Given the description of an element on the screen output the (x, y) to click on. 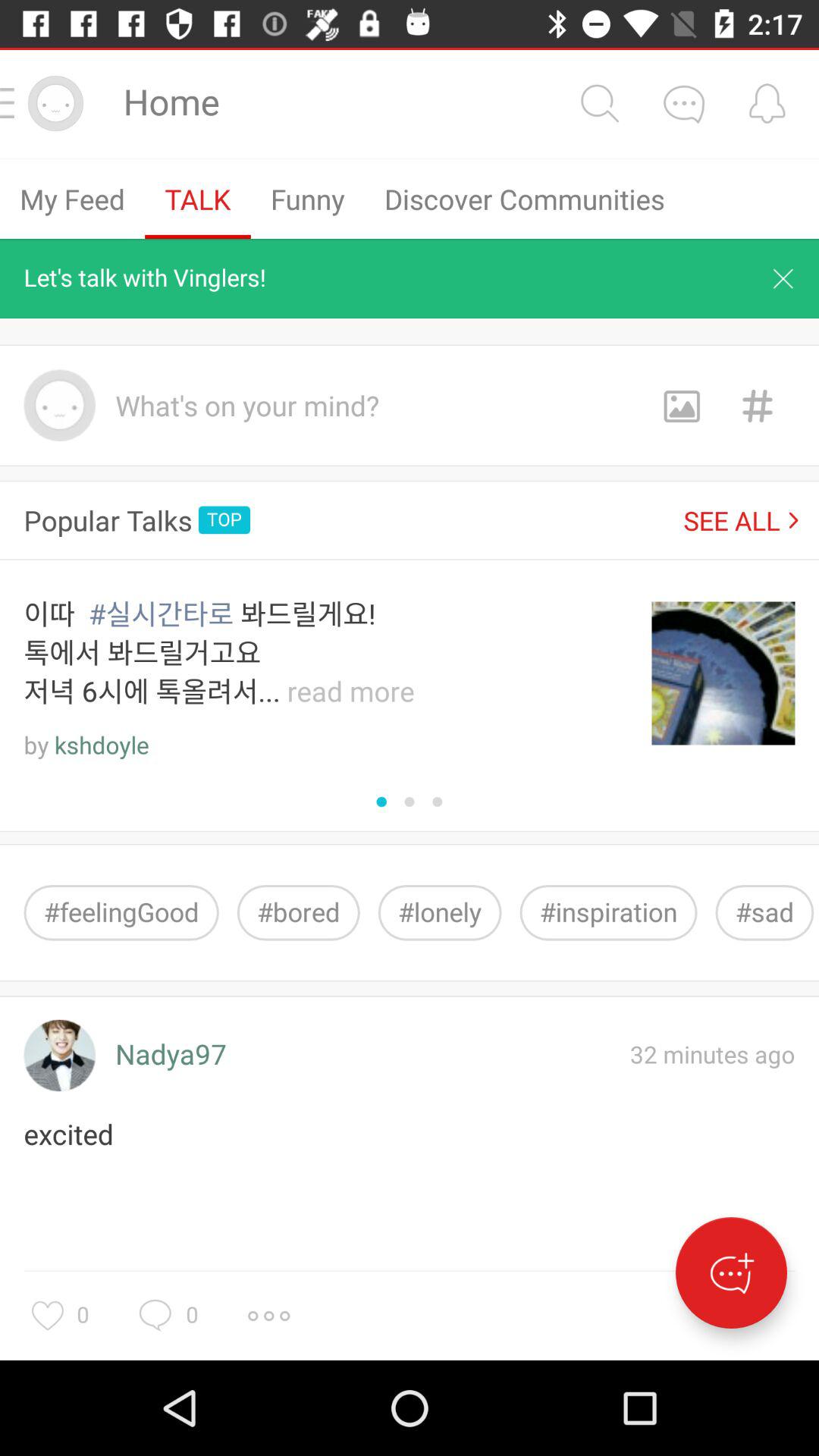
set alarm (766, 103)
